Given the description of an element on the screen output the (x, y) to click on. 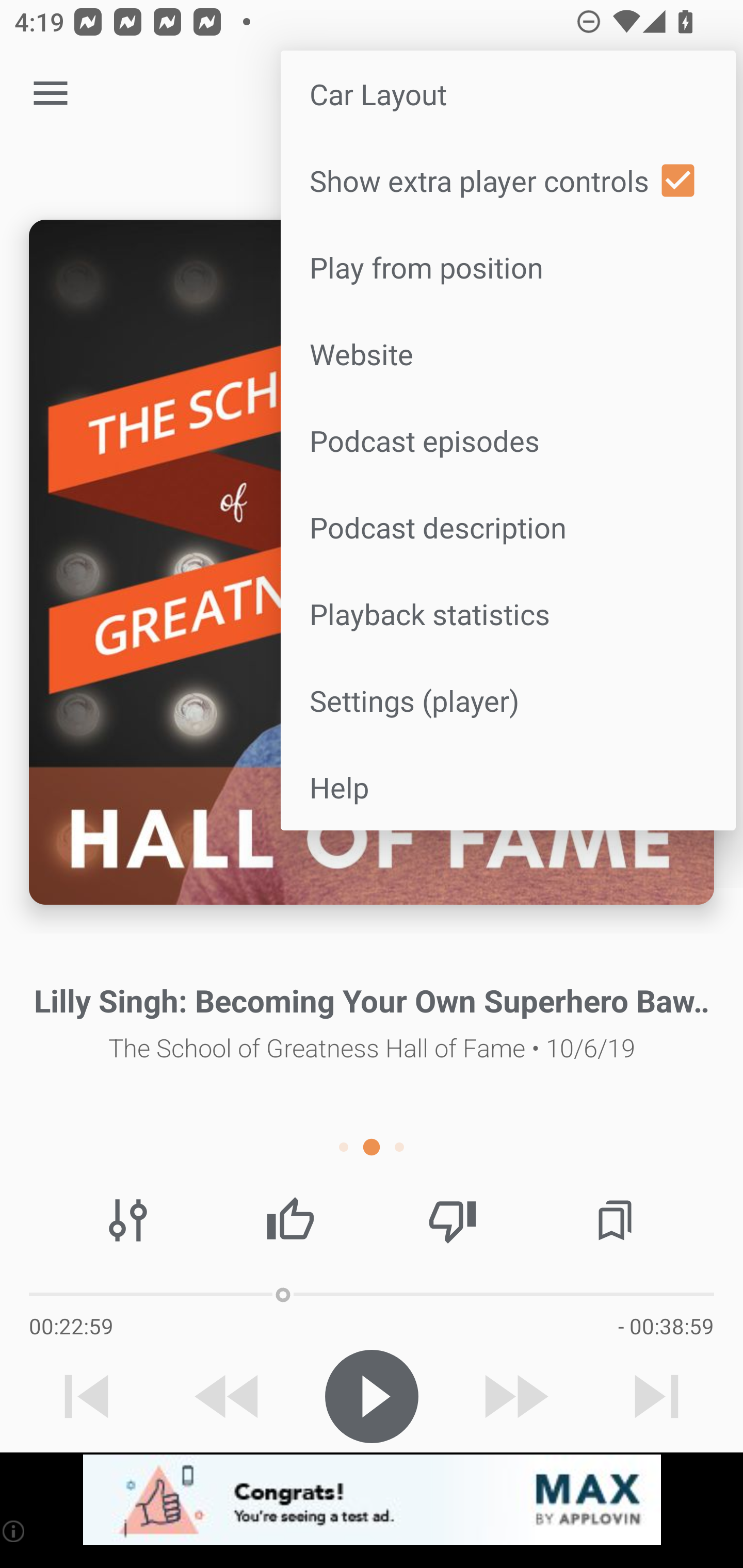
Car Layout (507, 93)
Show extra player controls (507, 180)
Play from position (507, 267)
Website (507, 353)
Podcast episodes (507, 440)
Podcast description (507, 527)
Playback statistics (507, 613)
Settings (player) (507, 699)
Help (507, 787)
